Given the description of an element on the screen output the (x, y) to click on. 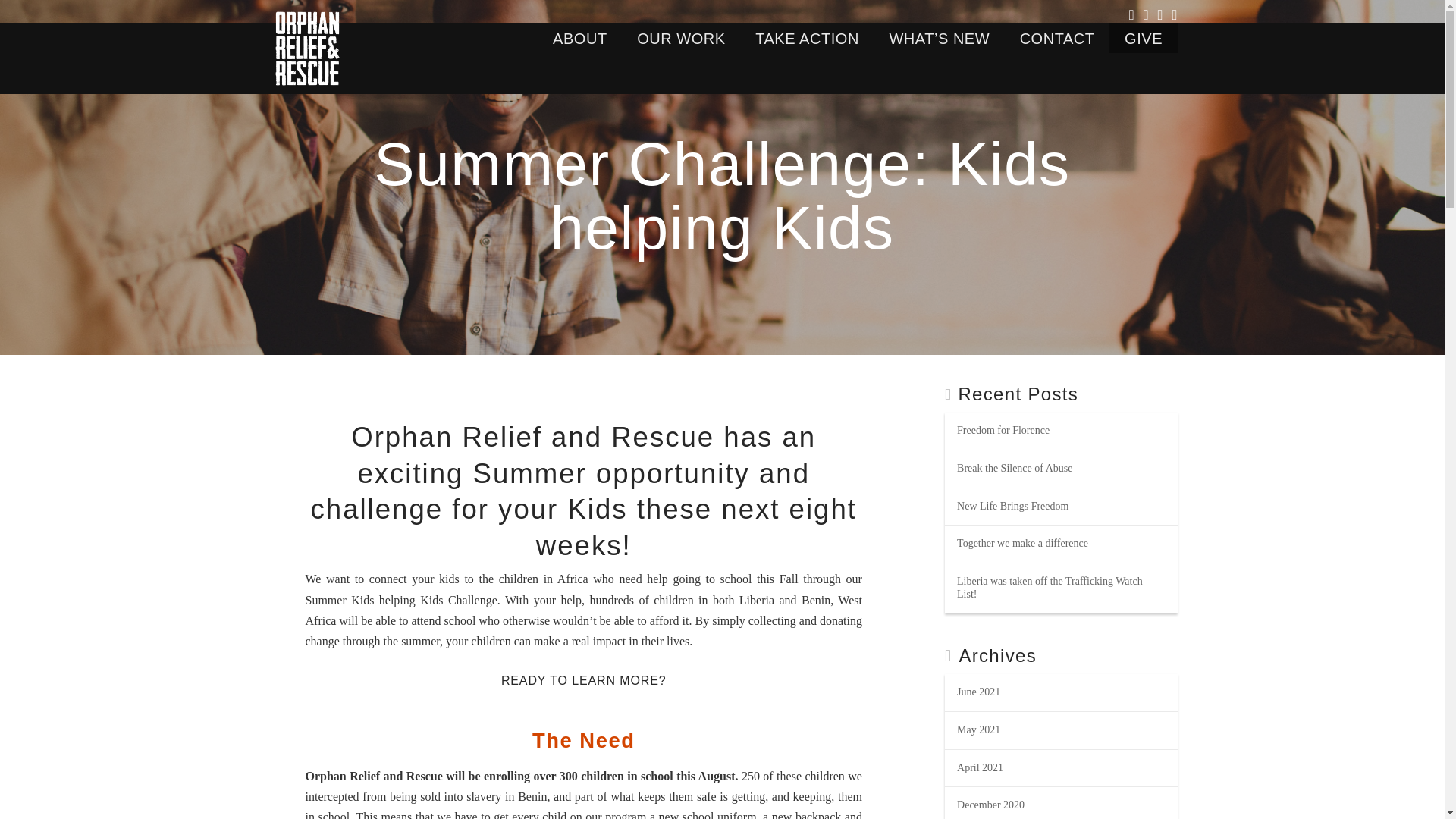
GIVE (1142, 37)
OUR WORK (680, 37)
TAKE ACTION (806, 37)
ABOUT (579, 37)
CONTACT (1056, 37)
Back to Top (1423, 797)
